Given the description of an element on the screen output the (x, y) to click on. 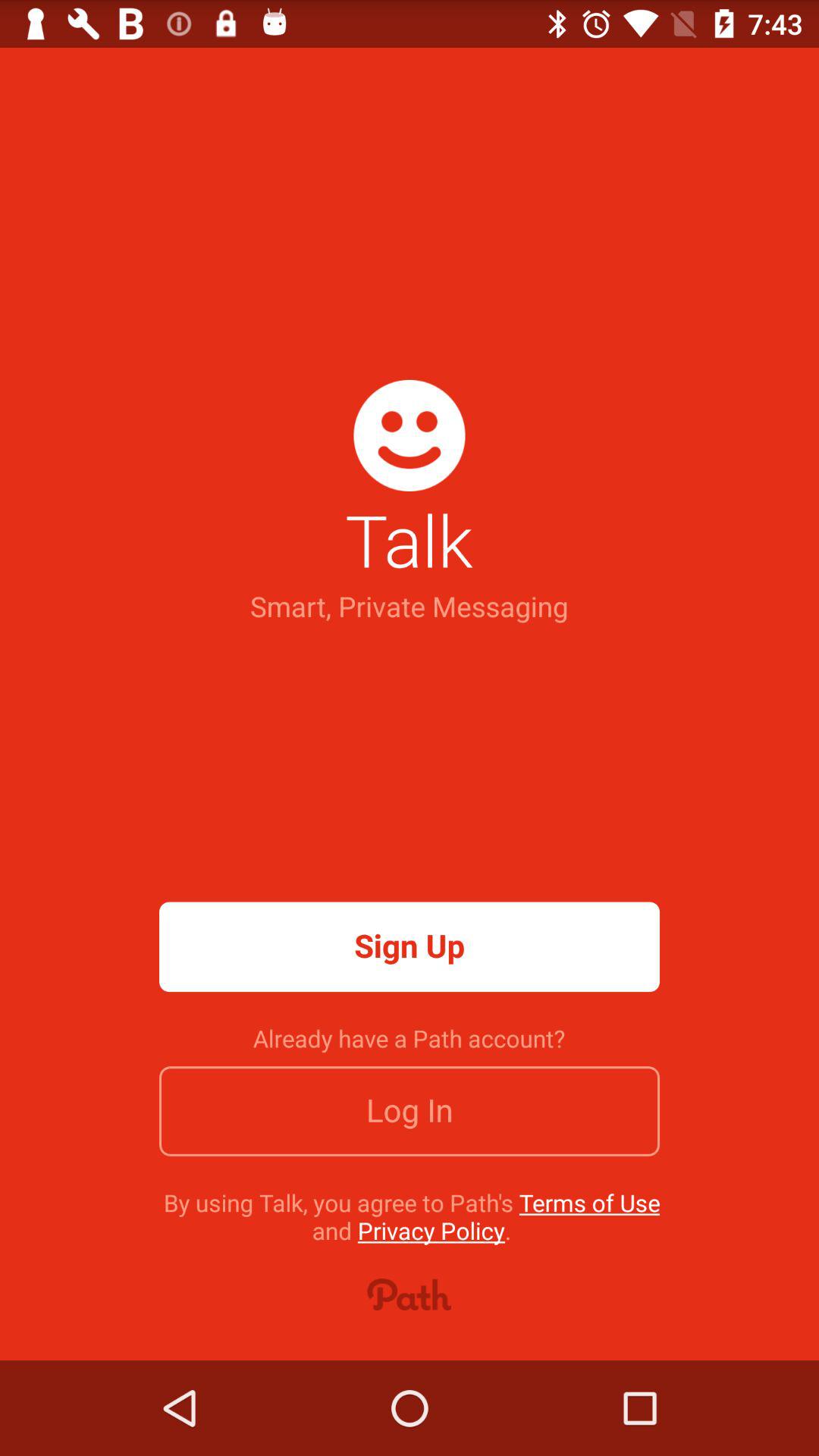
launch the by using talk (411, 1216)
